Given the description of an element on the screen output the (x, y) to click on. 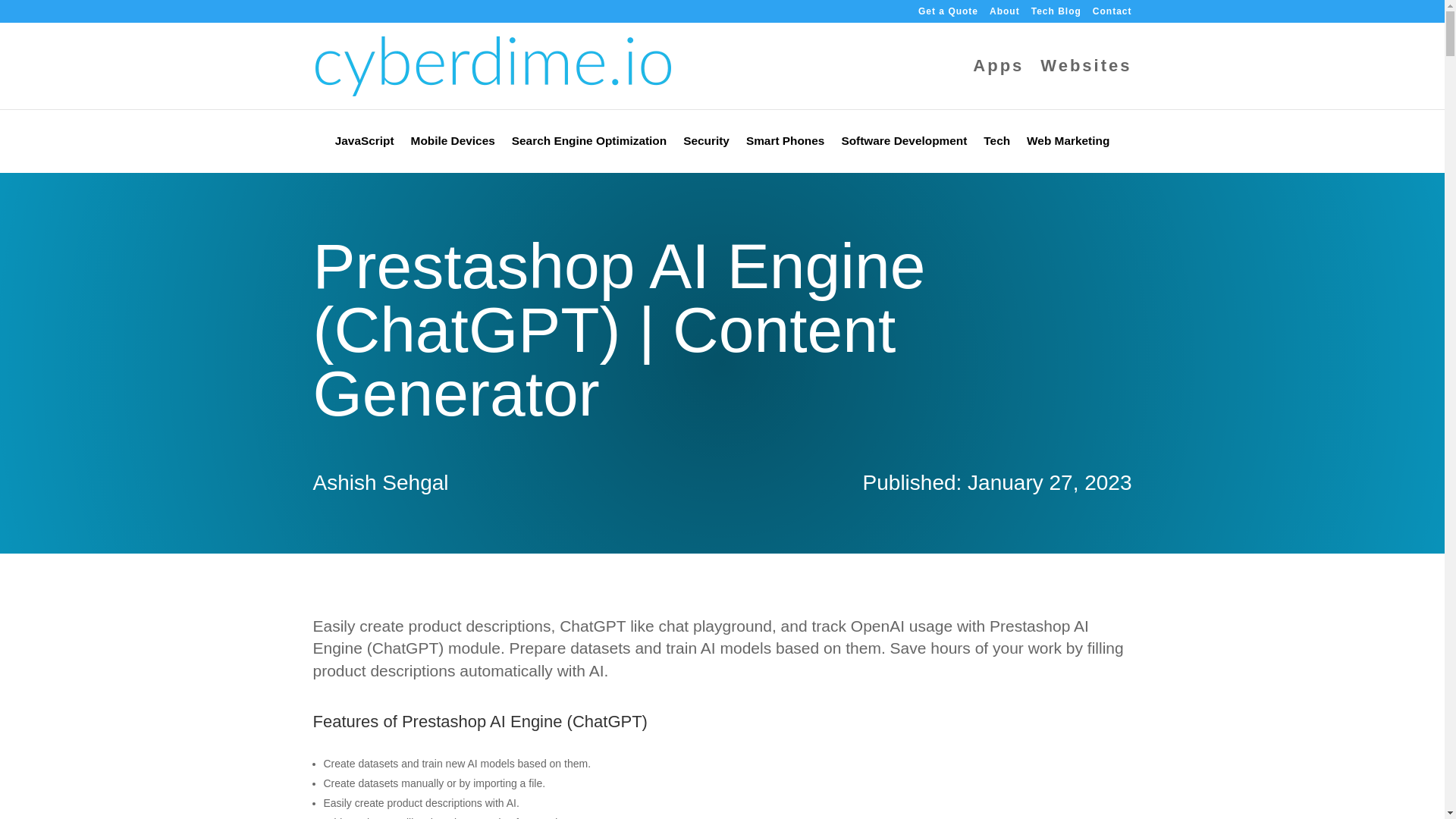
Search Engine Optimization (589, 143)
Mobile Devices (452, 143)
Tech Blog (1055, 14)
Software Development (903, 143)
Contact (1112, 14)
Security (705, 143)
Websites (1086, 84)
Web Marketing (1067, 143)
JavaScript (364, 143)
Tech (997, 143)
Smart Phones (785, 143)
Apps (997, 84)
About (1005, 14)
Get a Quote (948, 14)
